Given the description of an element on the screen output the (x, y) to click on. 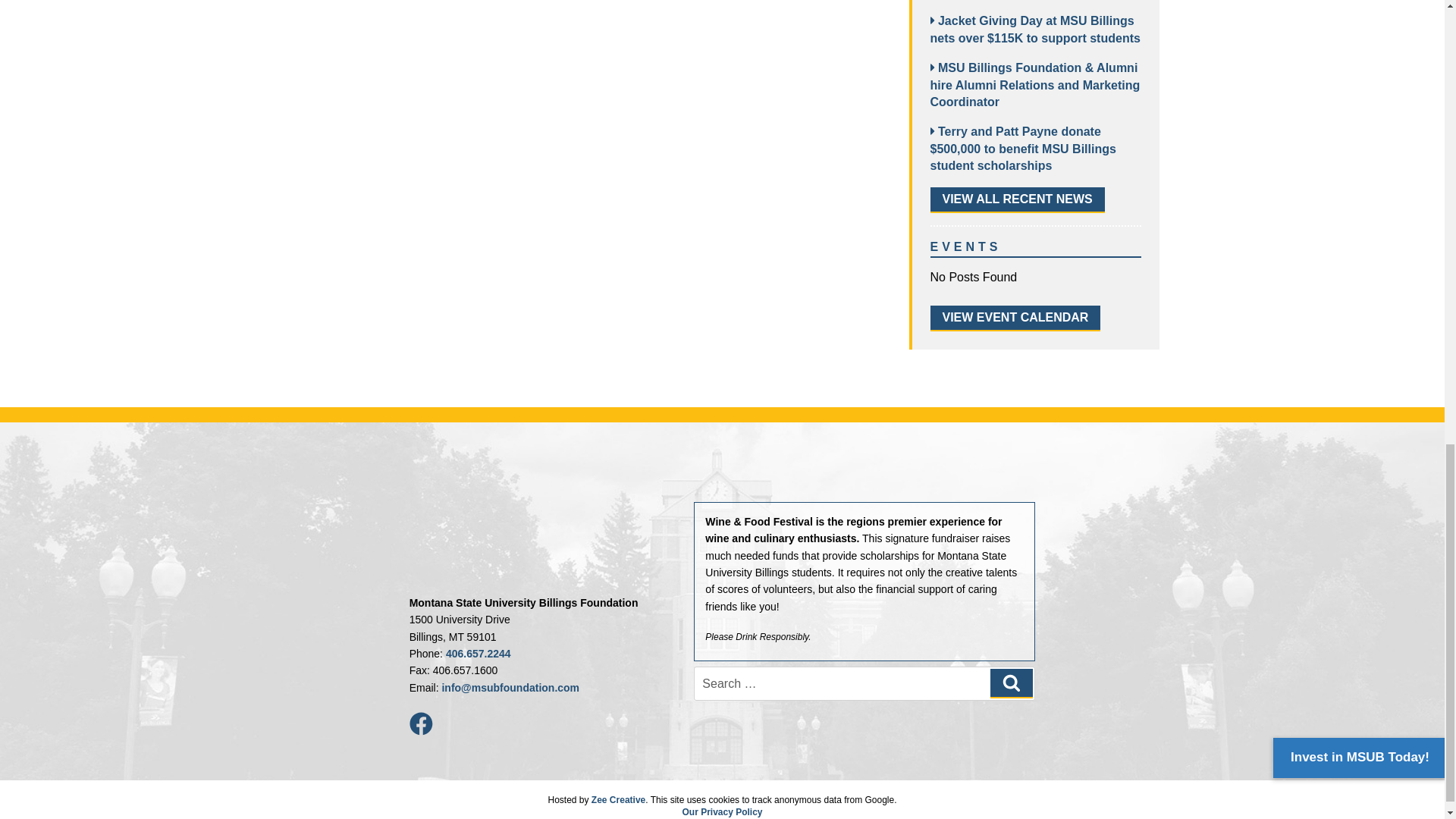
Zee Creative (618, 799)
Visit us on Facebook (420, 724)
Call 406.657.2244 (478, 653)
Privacy Policy (721, 811)
Email MSUB Foundation (510, 687)
